Given the description of an element on the screen output the (x, y) to click on. 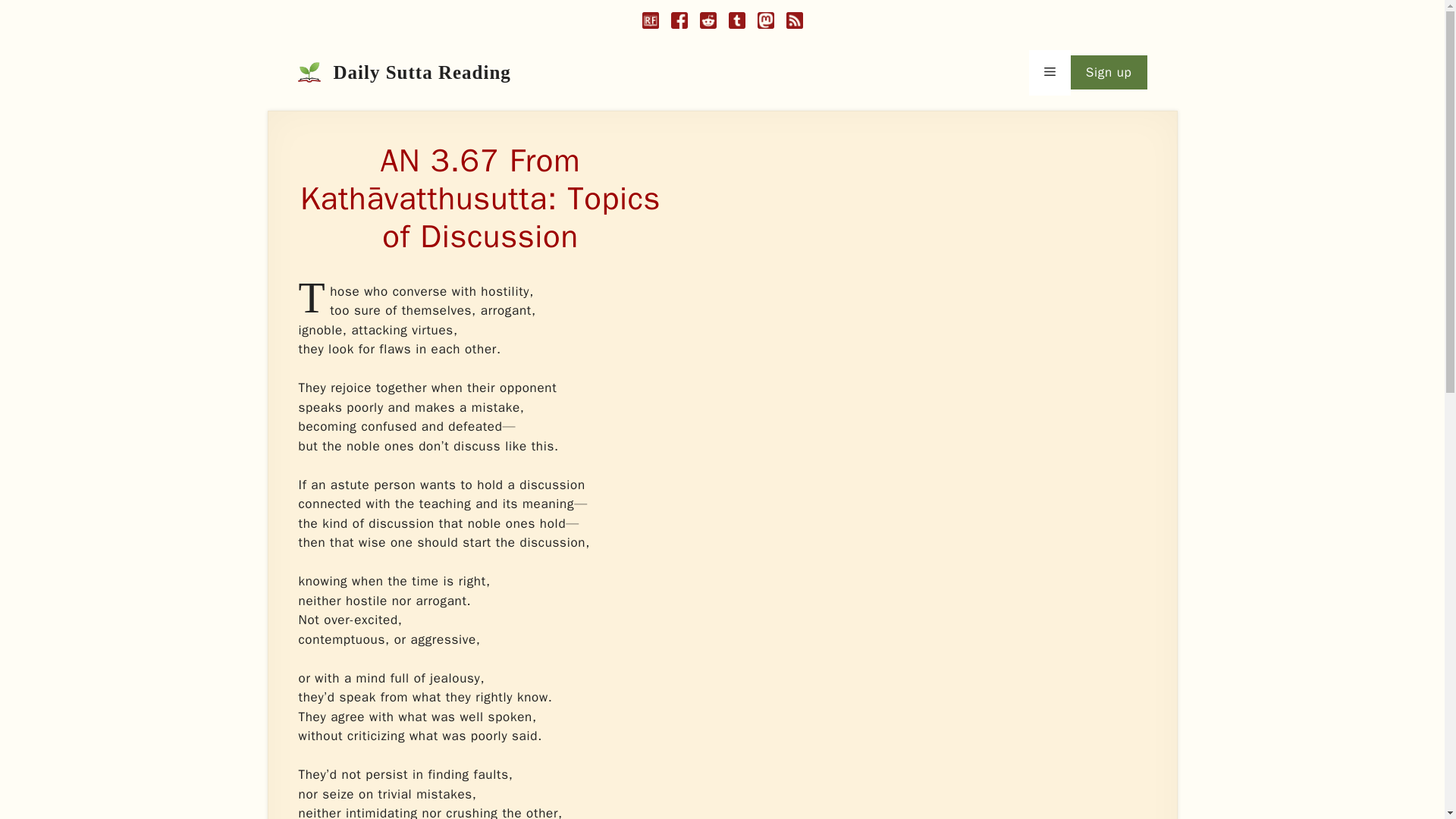
Sign up (1108, 72)
Menu (1049, 72)
Sign up (1108, 72)
Sign up (1108, 72)
Daily Sutta Reading (422, 72)
